Given the description of an element on the screen output the (x, y) to click on. 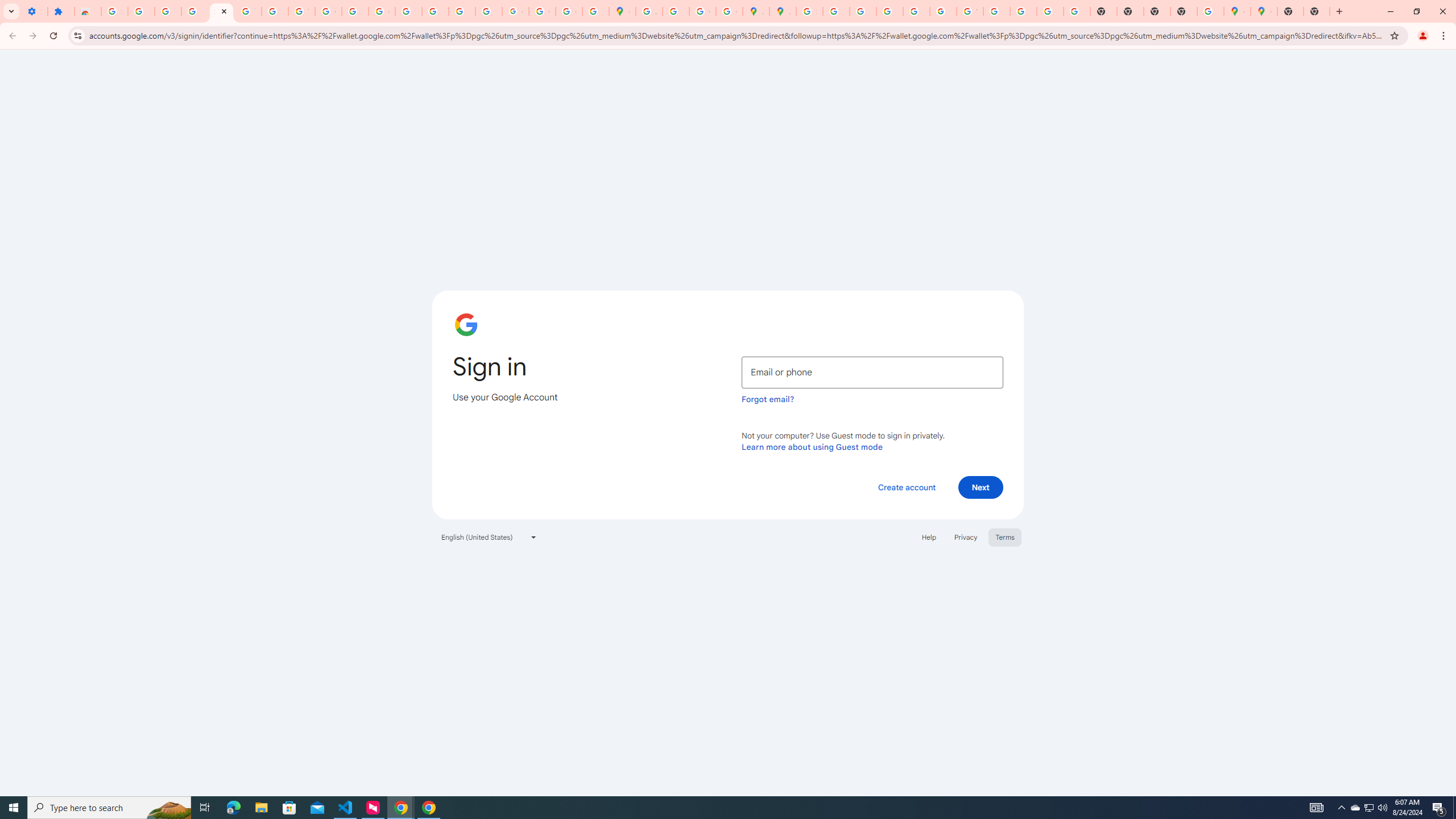
Next (980, 486)
Sign in - Google Accounts (114, 11)
Google Maps (1236, 11)
Privacy Help Center - Policies Help (889, 11)
New Tab (1316, 11)
